Given the description of an element on the screen output the (x, y) to click on. 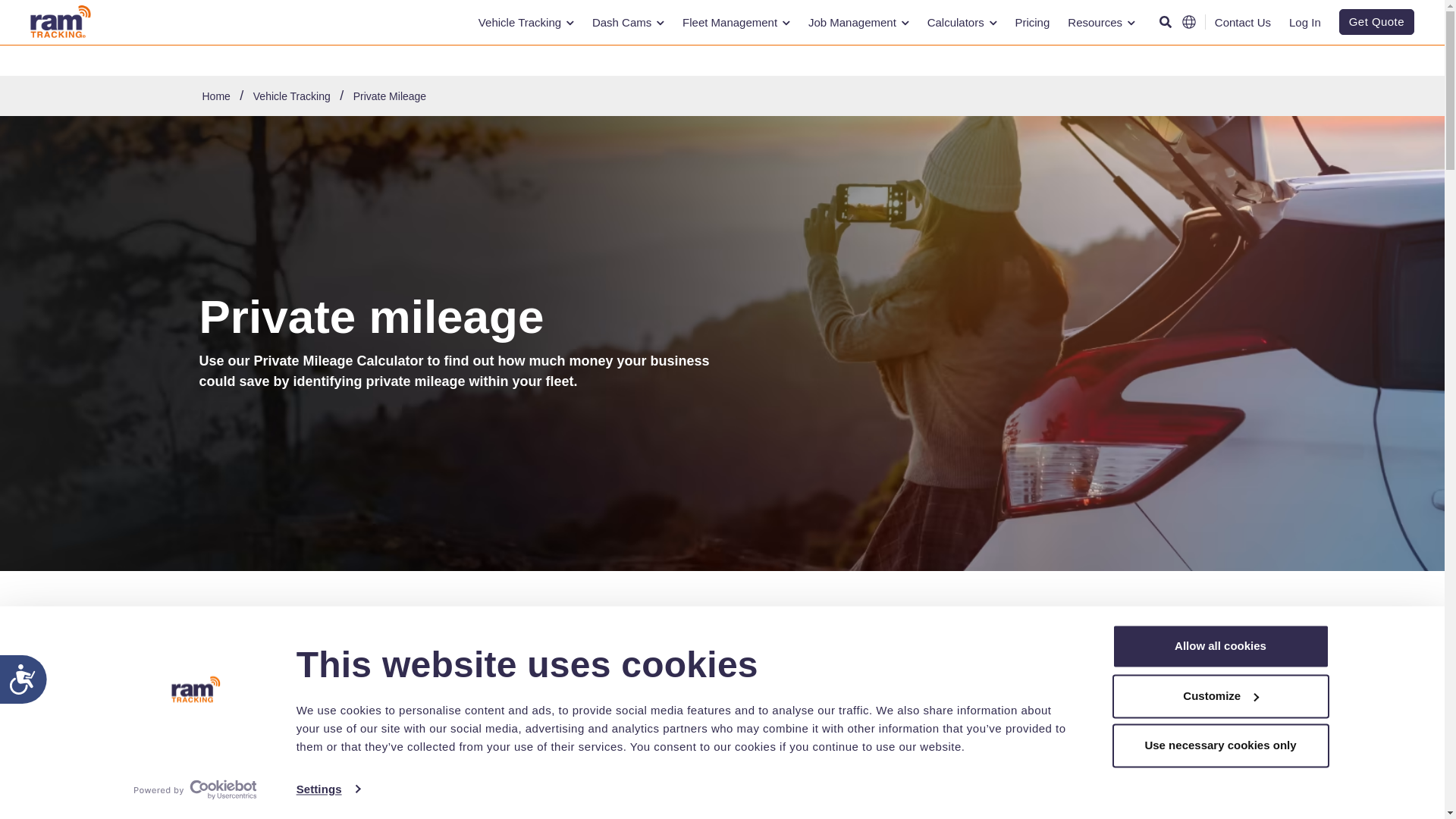
Settings (328, 789)
